Given the description of an element on the screen output the (x, y) to click on. 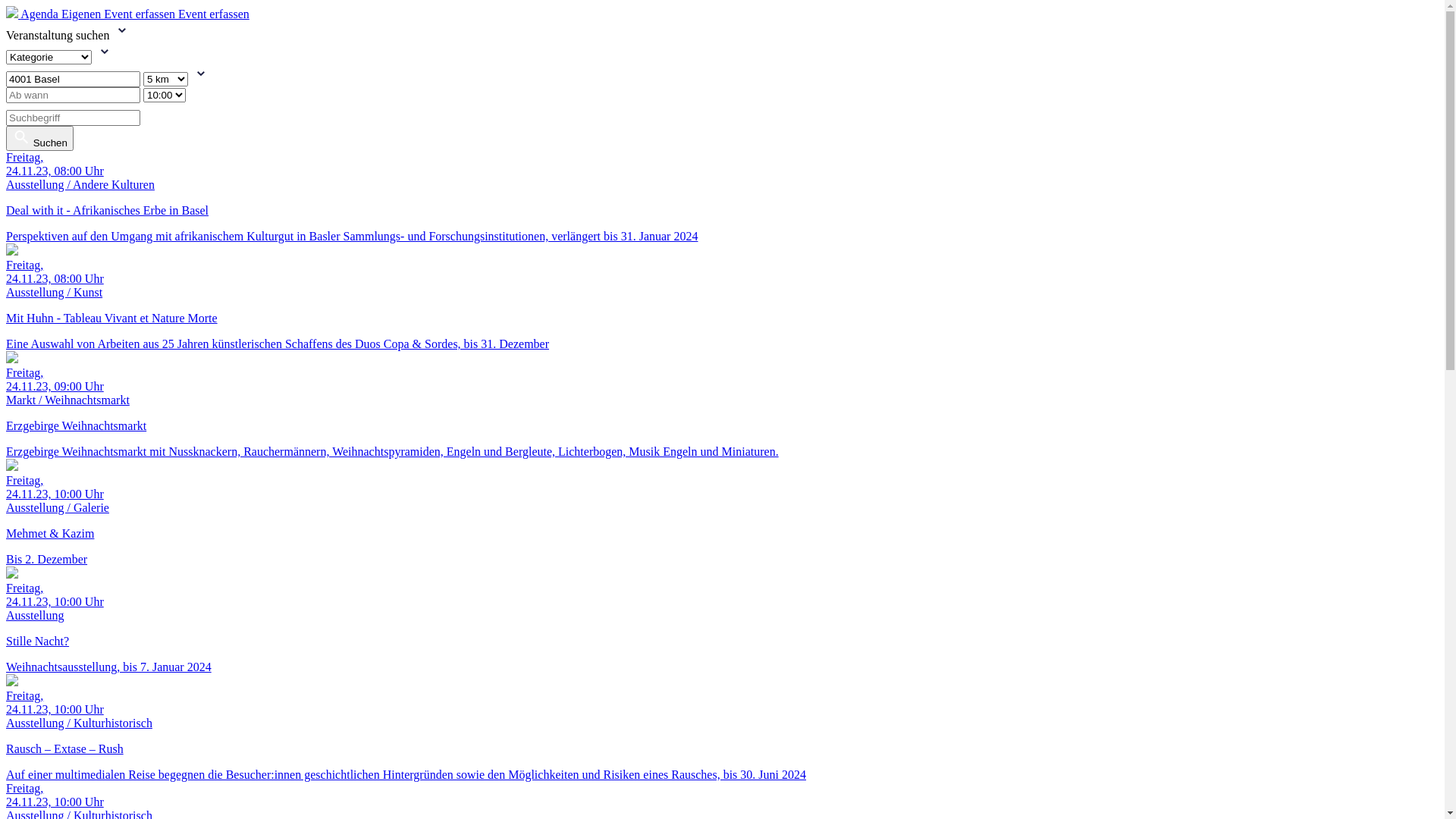
Agenda Element type: text (40, 13)
Eigenen Event erfassen Event erfassen Element type: text (155, 13)
Suchen Element type: text (39, 137)
